Given the description of an element on the screen output the (x, y) to click on. 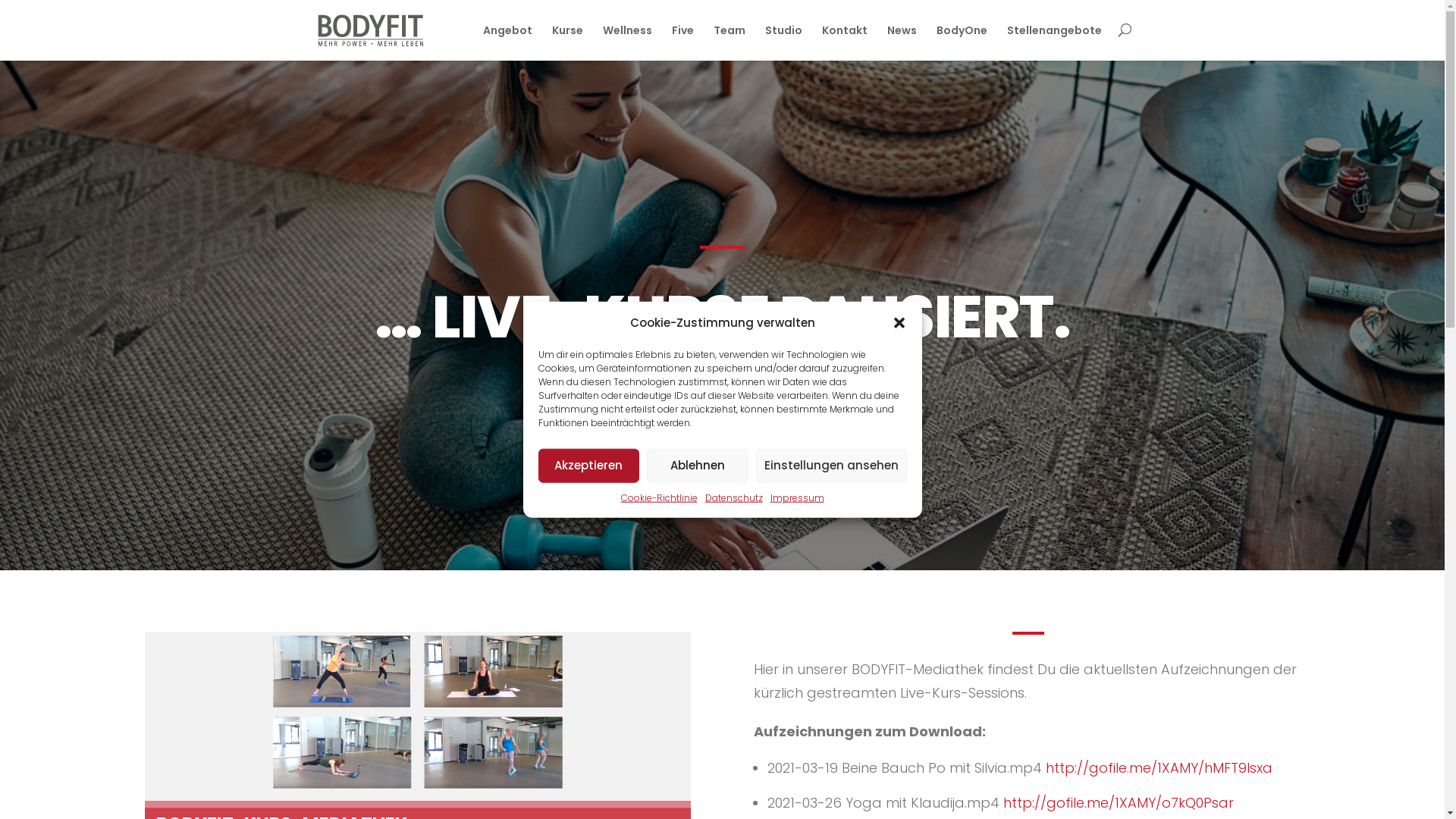
Team Element type: text (728, 42)
Studio Element type: text (782, 42)
Kontakt Element type: text (844, 42)
Five Element type: text (682, 42)
Angebot Element type: text (506, 42)
Impressum Element type: text (797, 498)
Stellenangebote Element type: text (1054, 42)
News Element type: text (901, 42)
http://gofile.me/1XAMY/hMFT9lsxa Element type: text (1158, 767)
Wellness Element type: text (626, 42)
Kurse Element type: text (567, 42)
Einstellungen ansehen Element type: text (830, 465)
http://gofile.me/1XAMY/o7kQ0Psar Element type: text (1118, 802)
Akzeptieren Element type: text (589, 465)
Cookie-Richtlinie Element type: text (658, 498)
BodyOne Element type: text (960, 42)
Datenschutz Element type: text (733, 498)
Ablehnen Element type: text (697, 465)
